Given the description of an element on the screen output the (x, y) to click on. 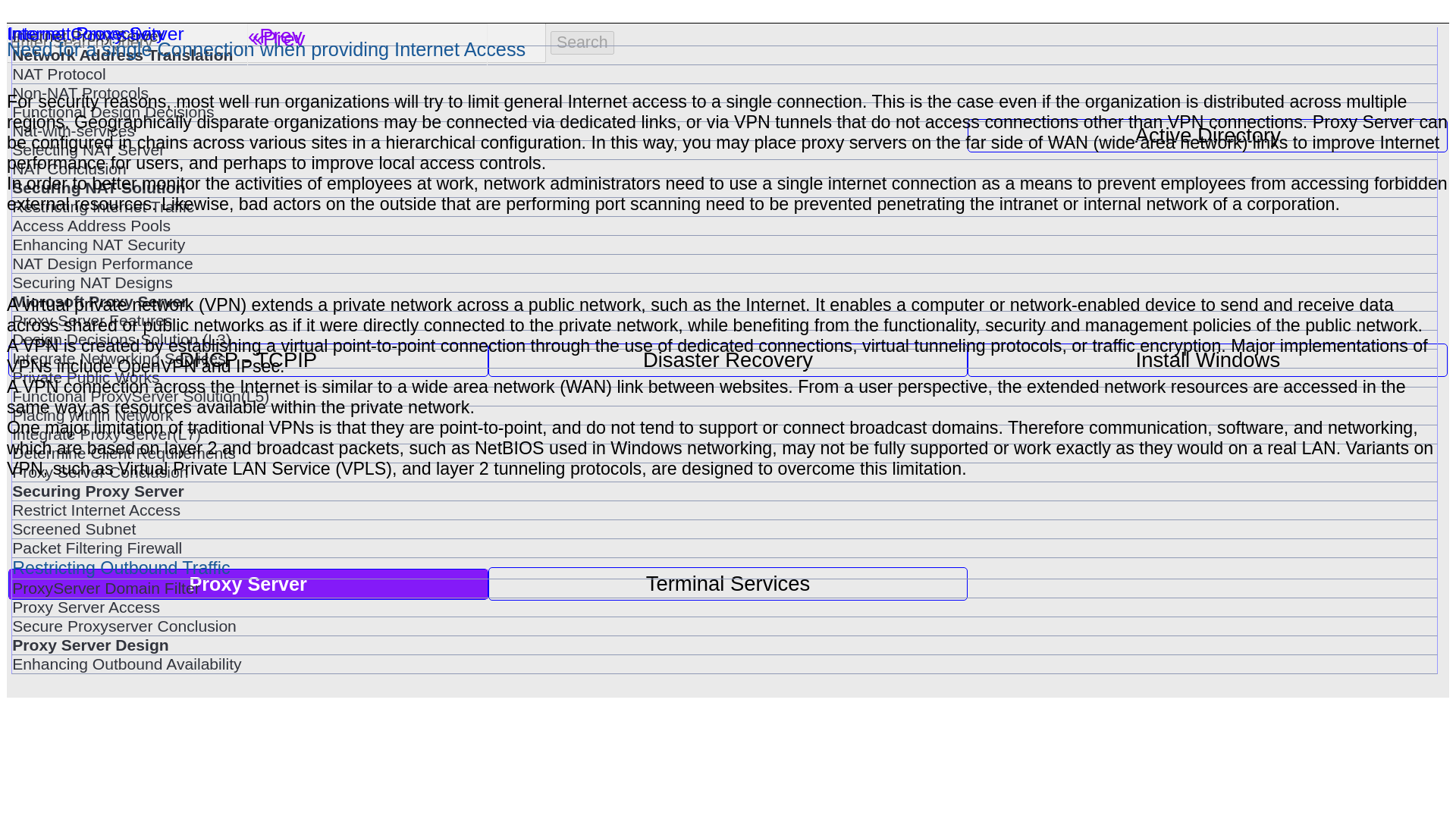
Packet Filtering Firewall (724, 547)
Determine Client Requirements (724, 453)
Search (582, 42)
Proxy Server (247, 583)
Securing NAT Solution (724, 188)
SiteMap (71, 60)
Nat-with-services (724, 131)
Integrate Networking Services (724, 358)
NAT Conclusion (724, 168)
Network Address Translation (724, 54)
